Given the description of an element on the screen output the (x, y) to click on. 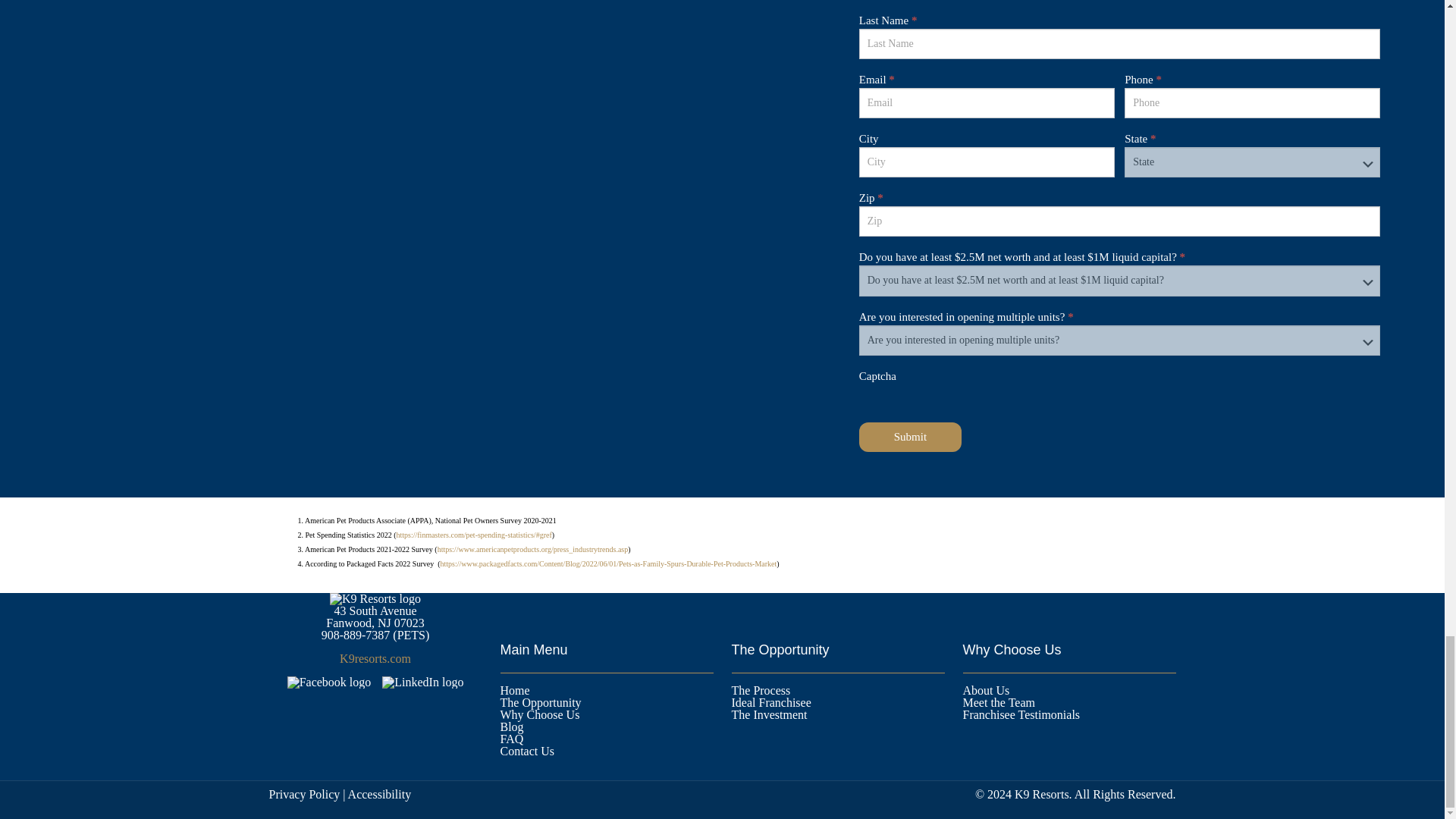
Meet the Team (1069, 702)
Contact Us (606, 751)
The Investment (836, 715)
The Process (836, 690)
Submit (909, 437)
Why Choose Us (606, 715)
The Opportunity (606, 702)
About Us (1069, 690)
FAQ (606, 739)
Franchisee Testimonials (1069, 715)
K9resorts.com (374, 658)
Ideal Franchisee (836, 702)
Home (606, 690)
Blog (606, 727)
